Given the description of an element on the screen output the (x, y) to click on. 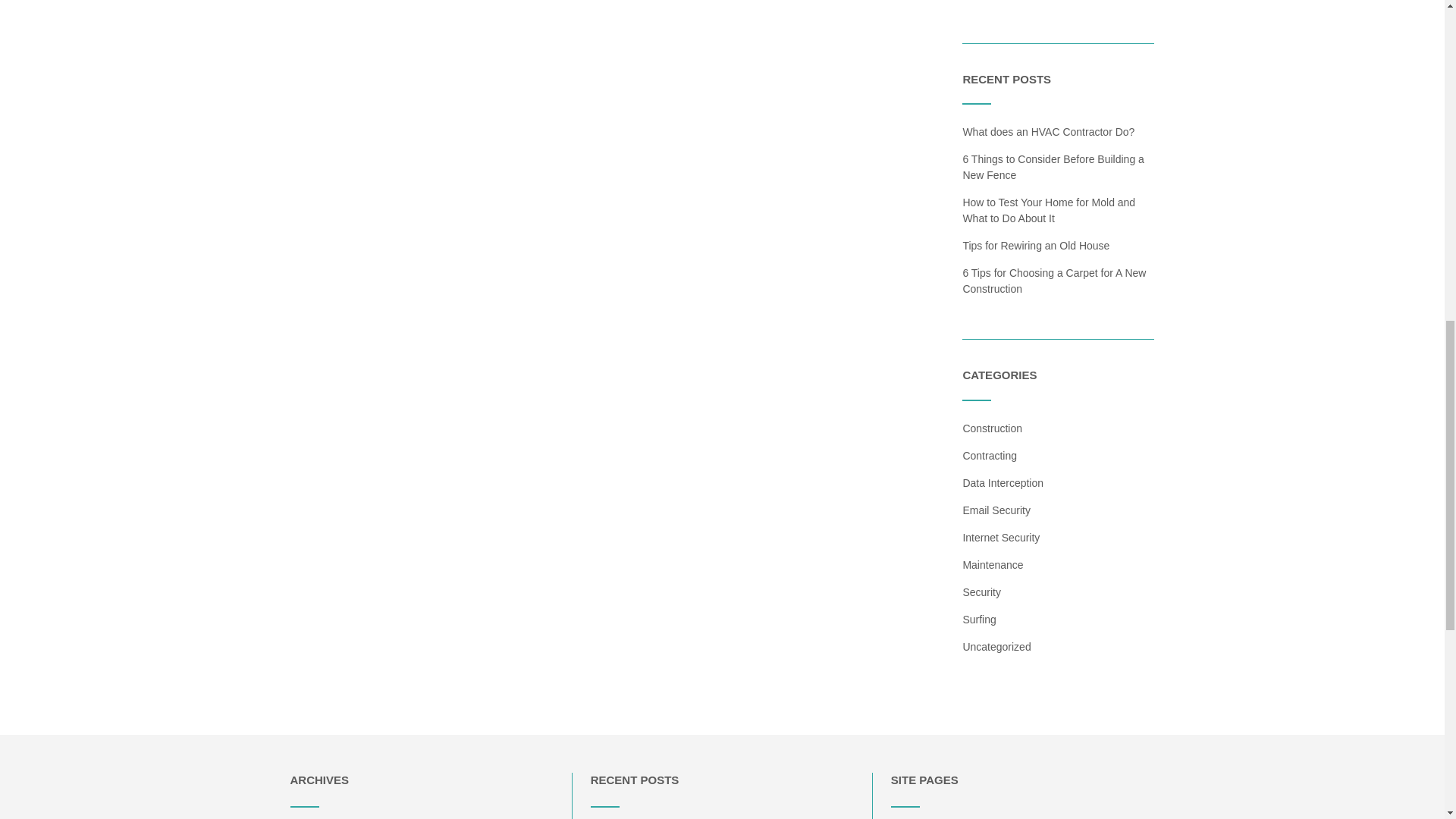
Maintenance (992, 564)
Surfing (978, 619)
6 Things to Consider Before Building a New Fence (1052, 166)
Tips for Rewiring an Old House (1035, 245)
Construction (992, 428)
How to Test Your Home for Mold and What to Do About It (1048, 210)
Contracting (989, 455)
Security (981, 592)
6 Tips for Choosing a Carpet for A New Construction (1053, 280)
Email Security (995, 510)
